Given the description of an element on the screen output the (x, y) to click on. 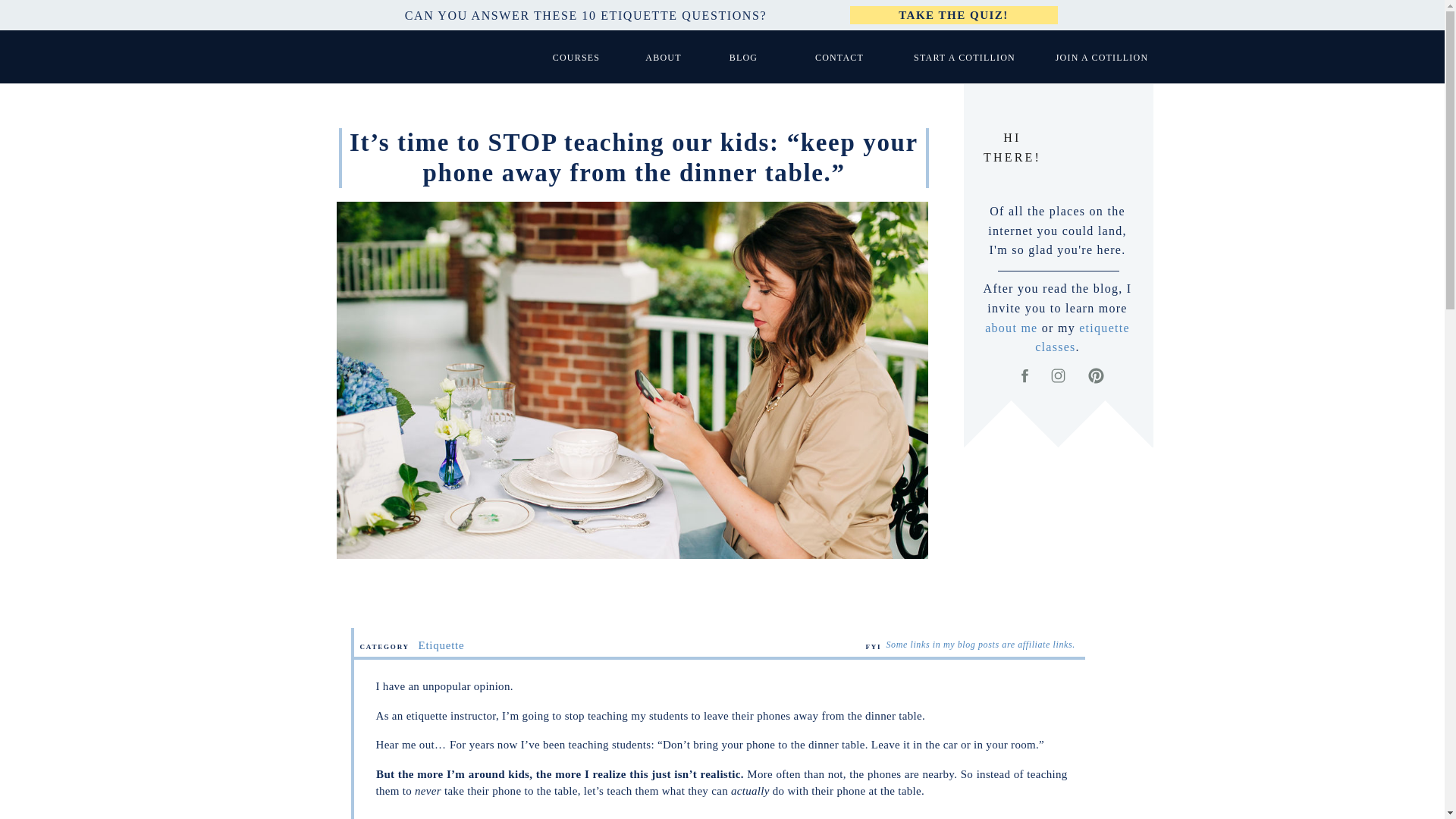
Etiquette (441, 645)
COURSES (575, 56)
TAKE THE QUIZ! (953, 15)
CAN YOU ANSWER THESE 10 ETIQUETTE QUESTIONS? (585, 15)
CONTACT (839, 56)
ABOUT (663, 56)
JOIN A COTILLION (1101, 56)
about me (1010, 327)
START A COTILLION (965, 56)
etiquette classes (1082, 337)
BLOG (742, 56)
